Given the description of an element on the screen output the (x, y) to click on. 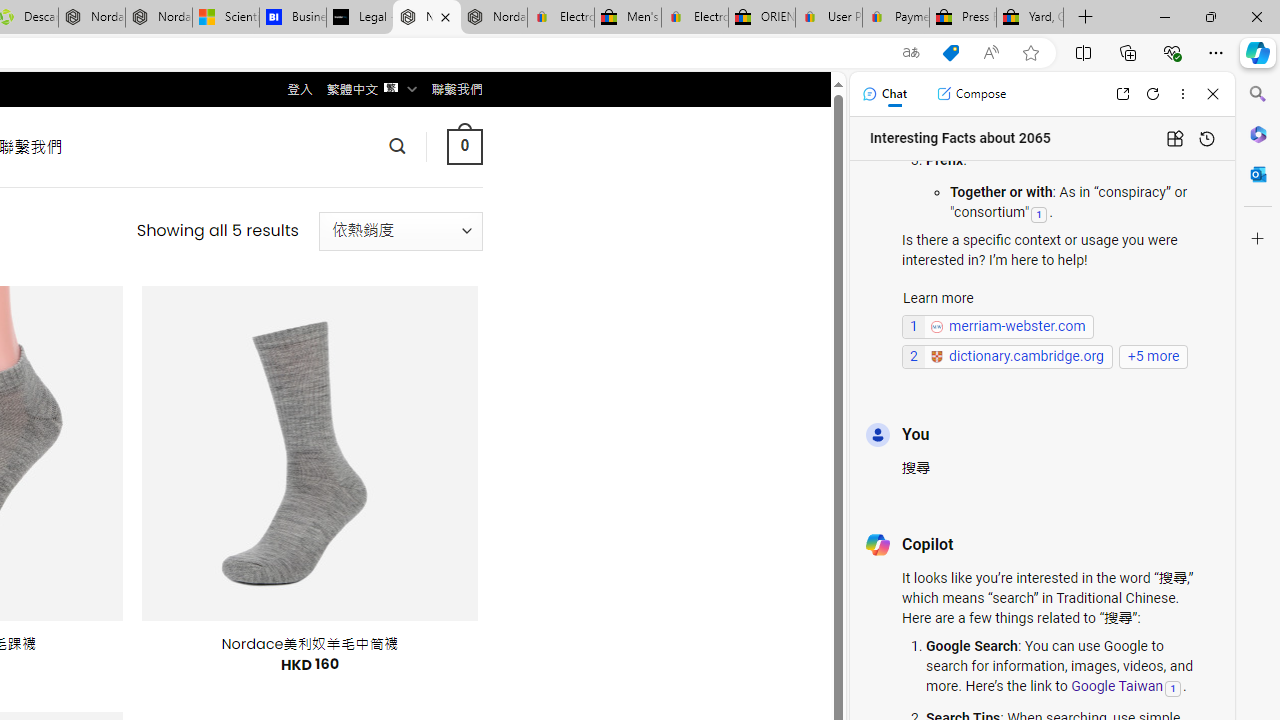
Minimize Search pane (1258, 94)
